Given the description of an element on the screen output the (x, y) to click on. 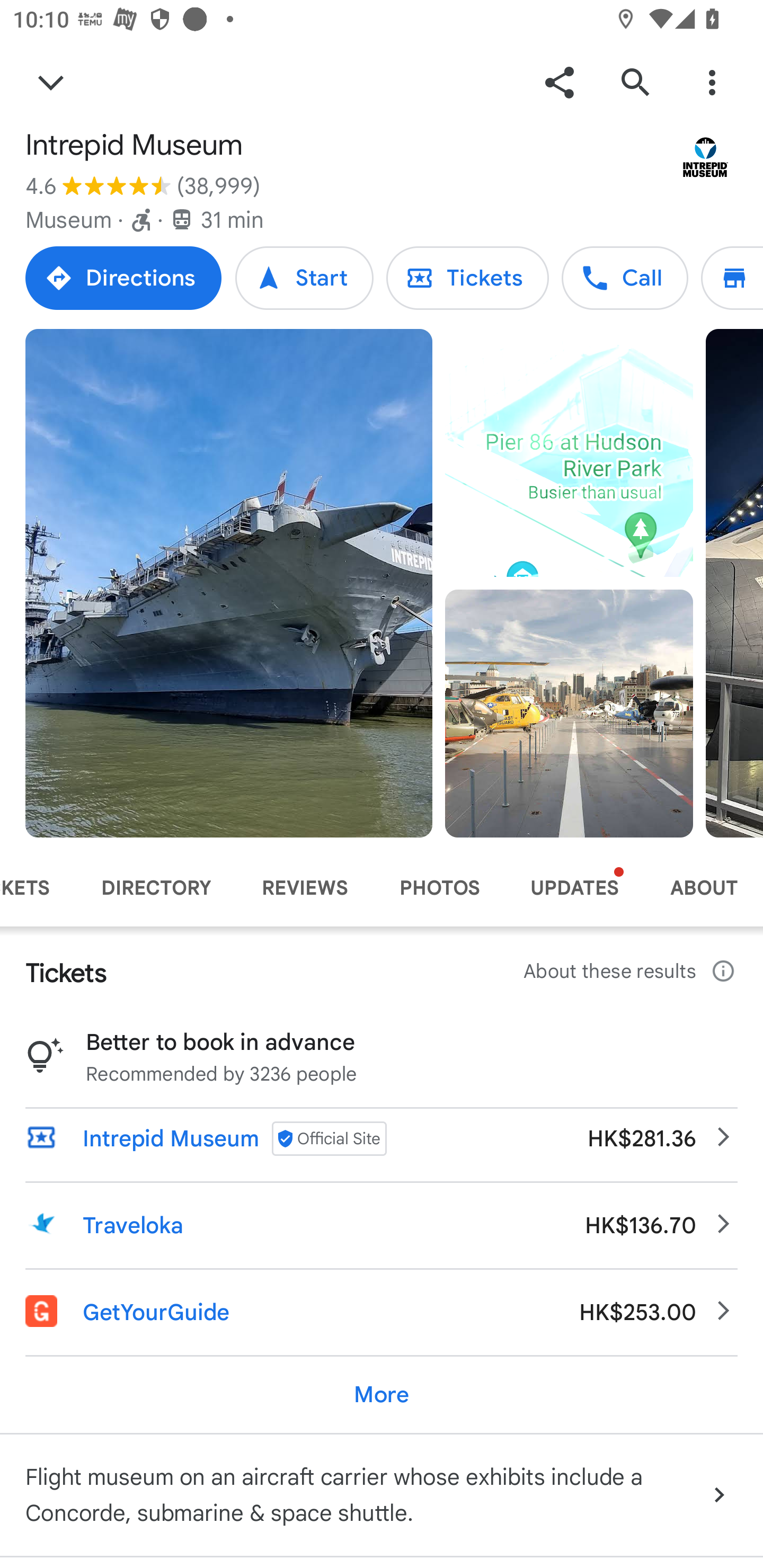
Back to Search (50, 81)
Share (559, 81)
Search (635, 81)
More options for Intrepid Museum (711, 81)
Start Start Start (304, 277)
Tickets (467, 277)
Directory Directory Directory (732, 277)
Photo (228, 583)
Video (568, 453)
Photo (568, 713)
TICKETS Tickets (37, 887)
DIRECTORY Directory (155, 887)
REVIEWS Reviews (304, 887)
PHOTOS Photos (439, 887)
UPDATES Updates New updates in Updates (574, 887)
ABOUT About (703, 887)
About these results (630, 970)
Intrepid Museum Official Site HK$281.36 (381, 1138)
Traveloka HK$136.70 (381, 1225)
GetYourGuide HK$253.00 (381, 1312)
More More More (381, 1394)
